Given the description of an element on the screen output the (x, y) to click on. 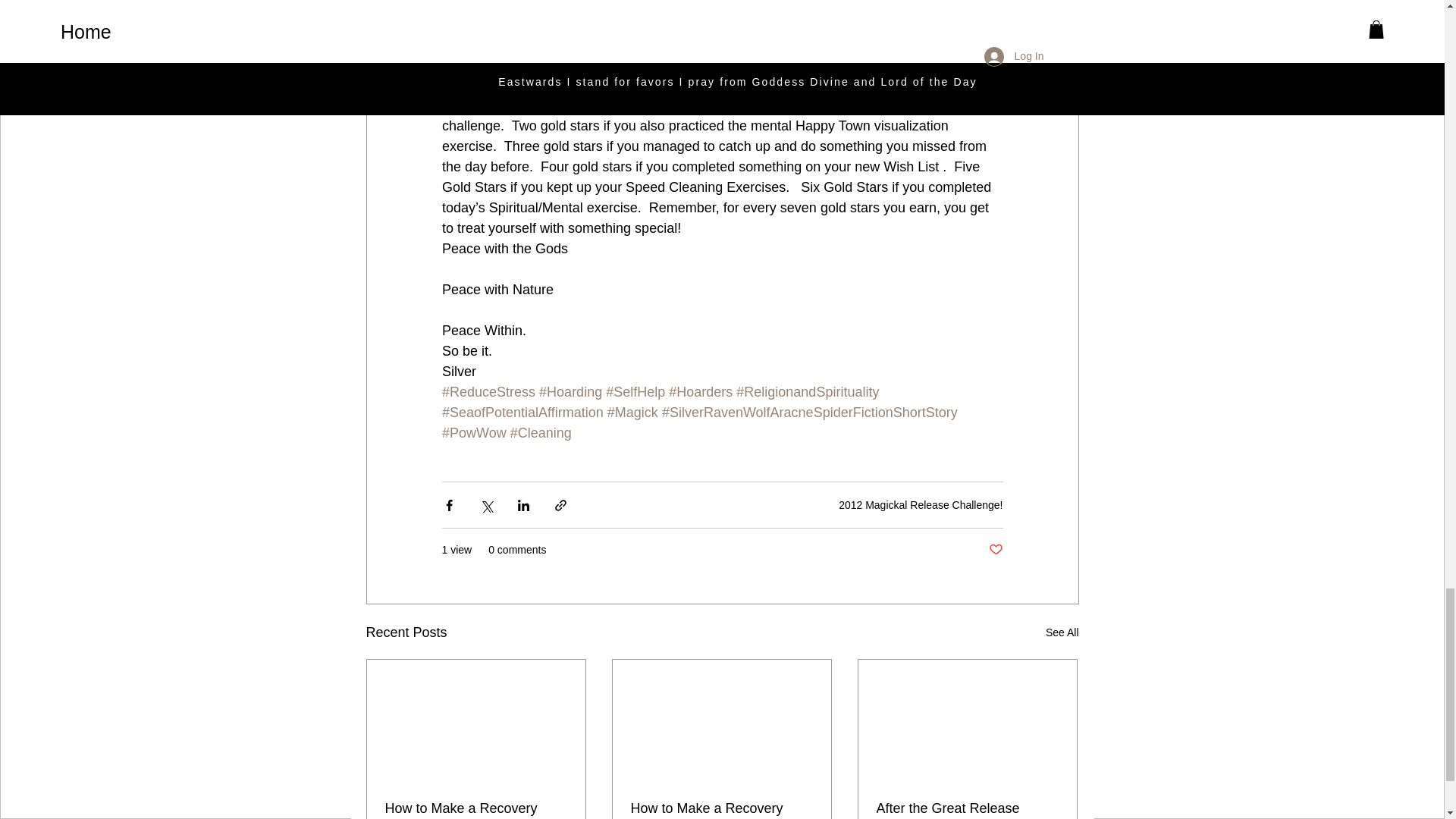
2012 Magickal Release Challenge! (920, 504)
Post not marked as liked (995, 549)
